Given the description of an element on the screen output the (x, y) to click on. 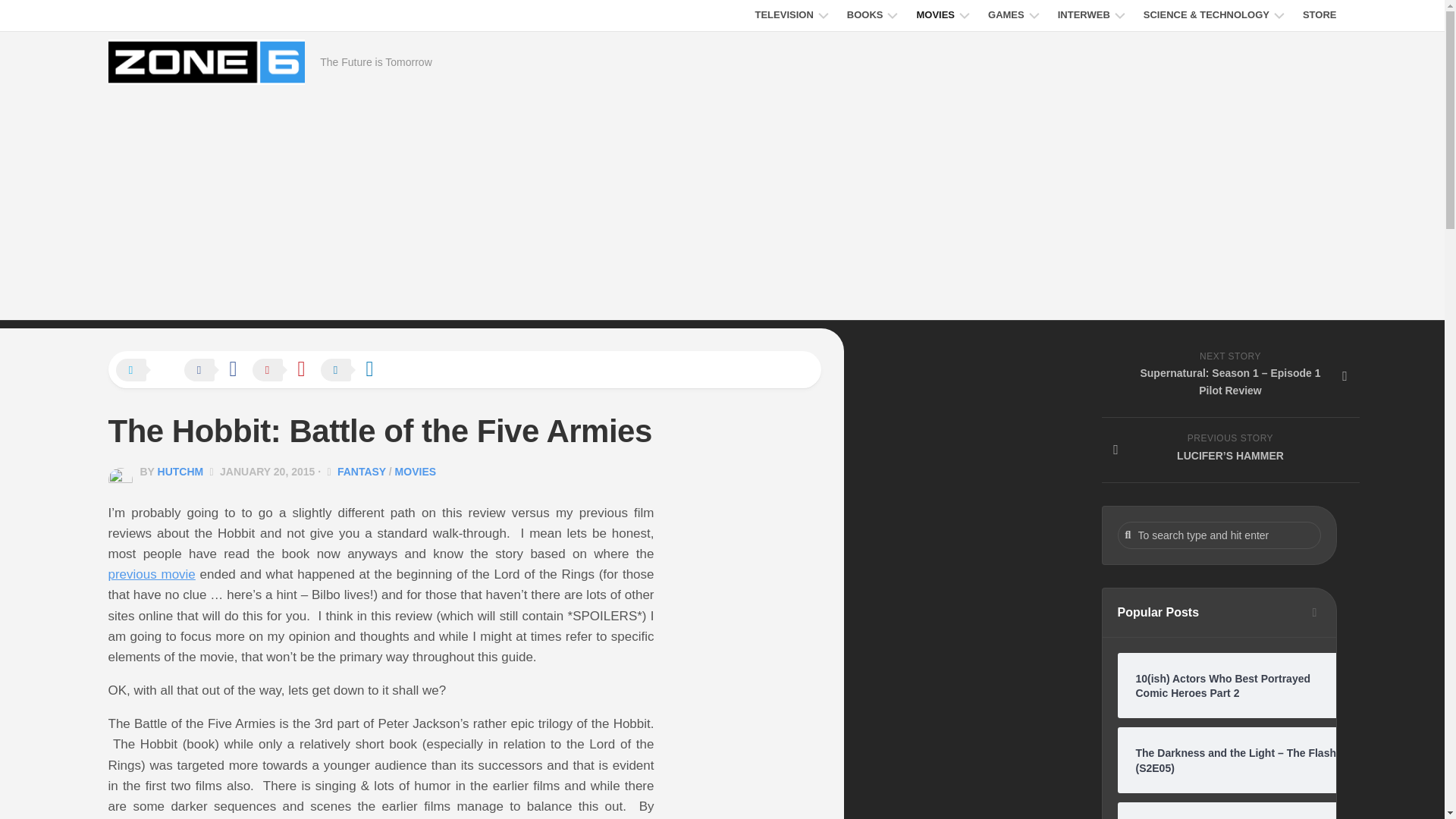
MOVIES (935, 14)
Share on Facebook (217, 370)
Share on X (149, 370)
Posts by hutchm (180, 471)
The Hobbit (151, 574)
BOOKS (865, 14)
INTERWEB (1083, 14)
Share on Pinterest (285, 370)
To search type and hit enter (1219, 534)
To search type and hit enter (1219, 534)
Share on LinkedIn (354, 370)
TELEVISION (783, 14)
GAMES (1006, 14)
